Given the description of an element on the screen output the (x, y) to click on. 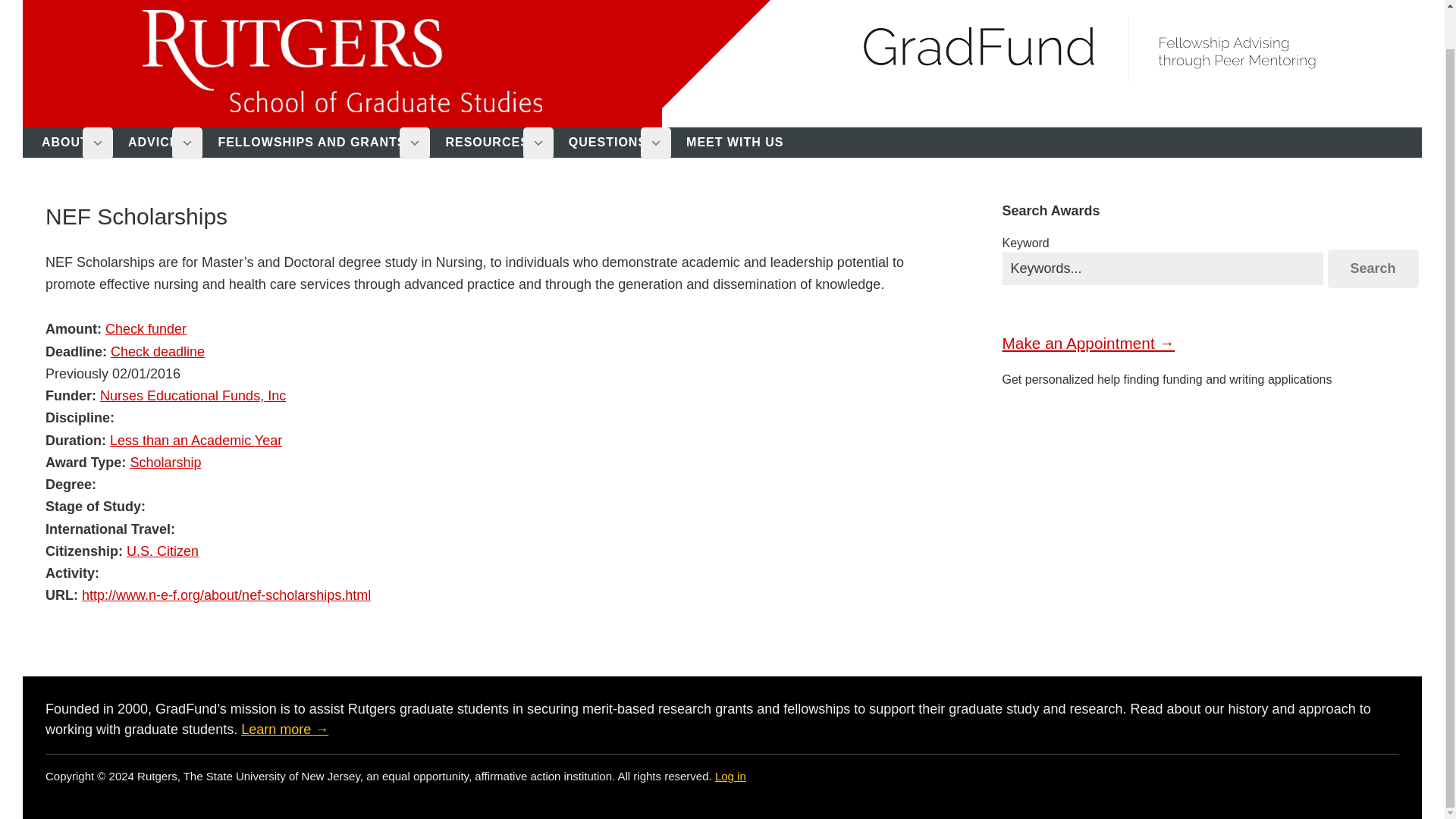
Submenu (413, 142)
U.S. Citizen (162, 550)
QUESTIONS (614, 142)
RESOURCES (493, 142)
Check deadline (157, 351)
Nurses Educational Funds, Inc (192, 395)
Check funder (145, 328)
Submenu (655, 142)
ADVICE (159, 142)
Search (1372, 268)
